Given the description of an element on the screen output the (x, y) to click on. 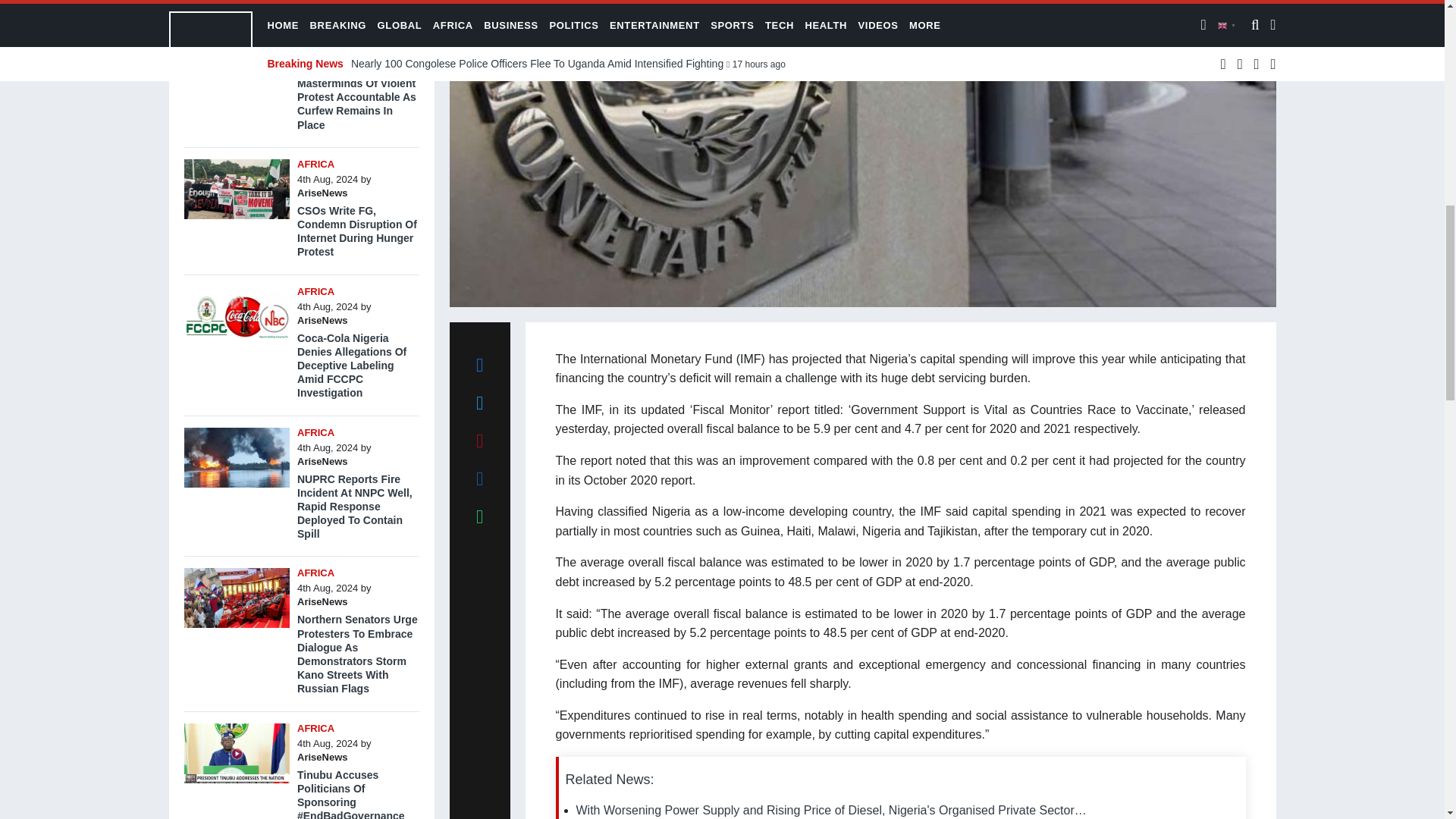
Posts by AriseNews (322, 193)
AFRICA (315, 431)
AFRICA (315, 9)
AFRICA (315, 163)
AriseNews (322, 319)
Posts by AriseNews (322, 460)
Posts by AriseNews (322, 319)
